Given the description of an element on the screen output the (x, y) to click on. 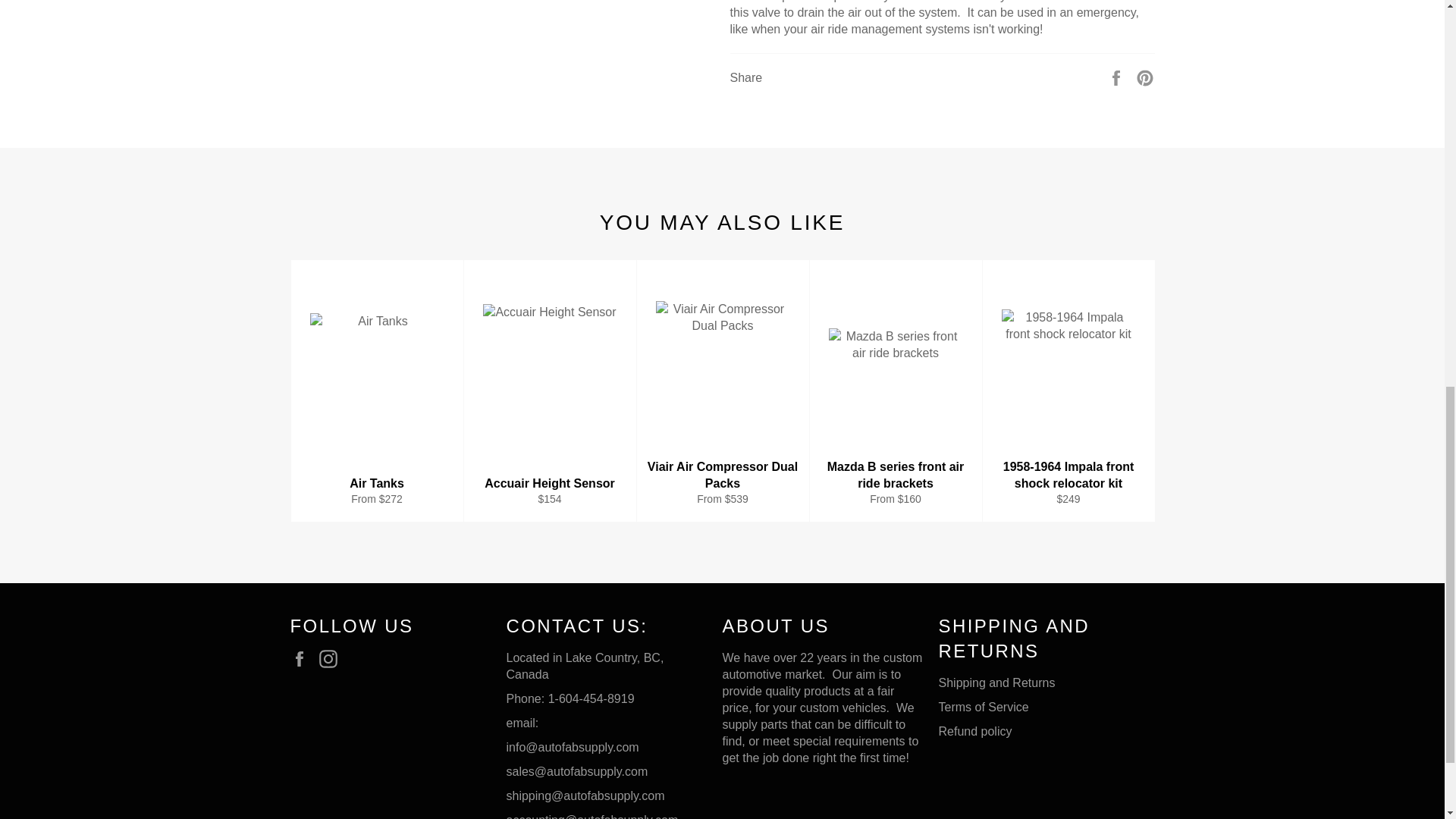
Share on Facebook (1117, 76)
Share on Facebook (1117, 76)
Specialty Autofab Supply on Instagram (331, 659)
Specialty Autofab Supply on Facebook (302, 659)
Pin on Pinterest (1144, 76)
Pin on Pinterest (1144, 76)
